Given the description of an element on the screen output the (x, y) to click on. 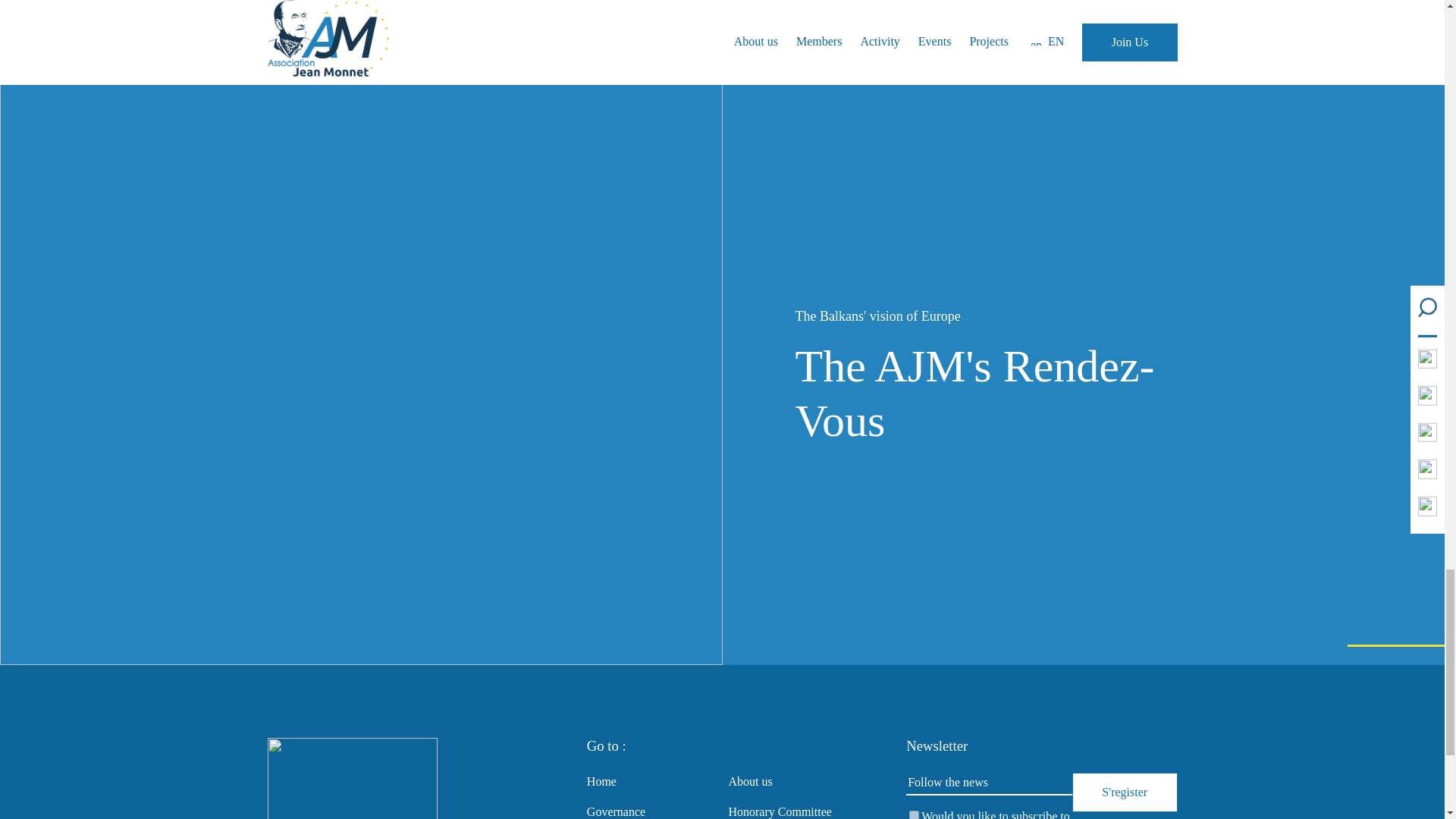
1 (913, 814)
